Given the description of an element on the screen output the (x, y) to click on. 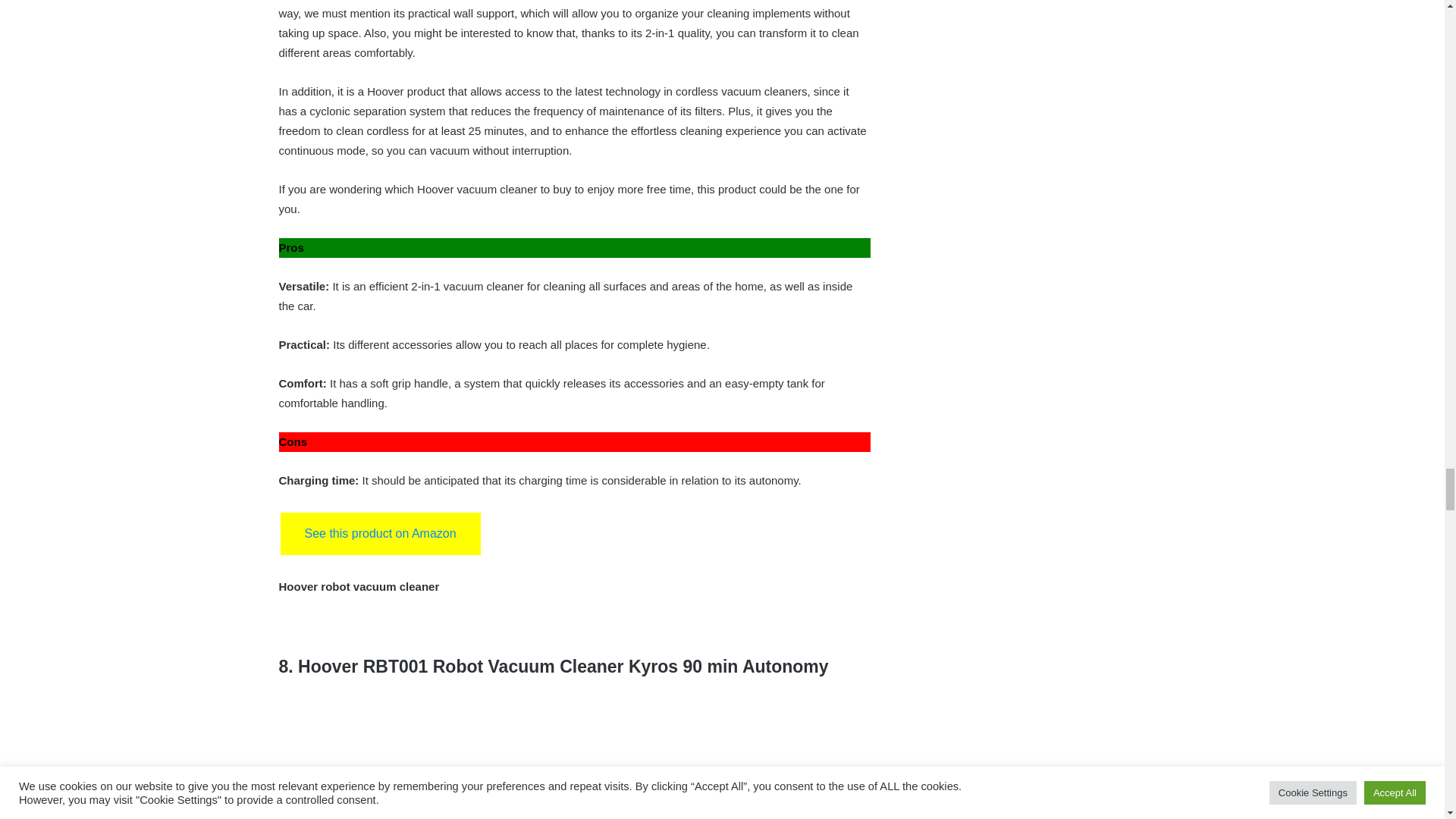
See this product on Amazon (380, 533)
